Given the description of an element on the screen output the (x, y) to click on. 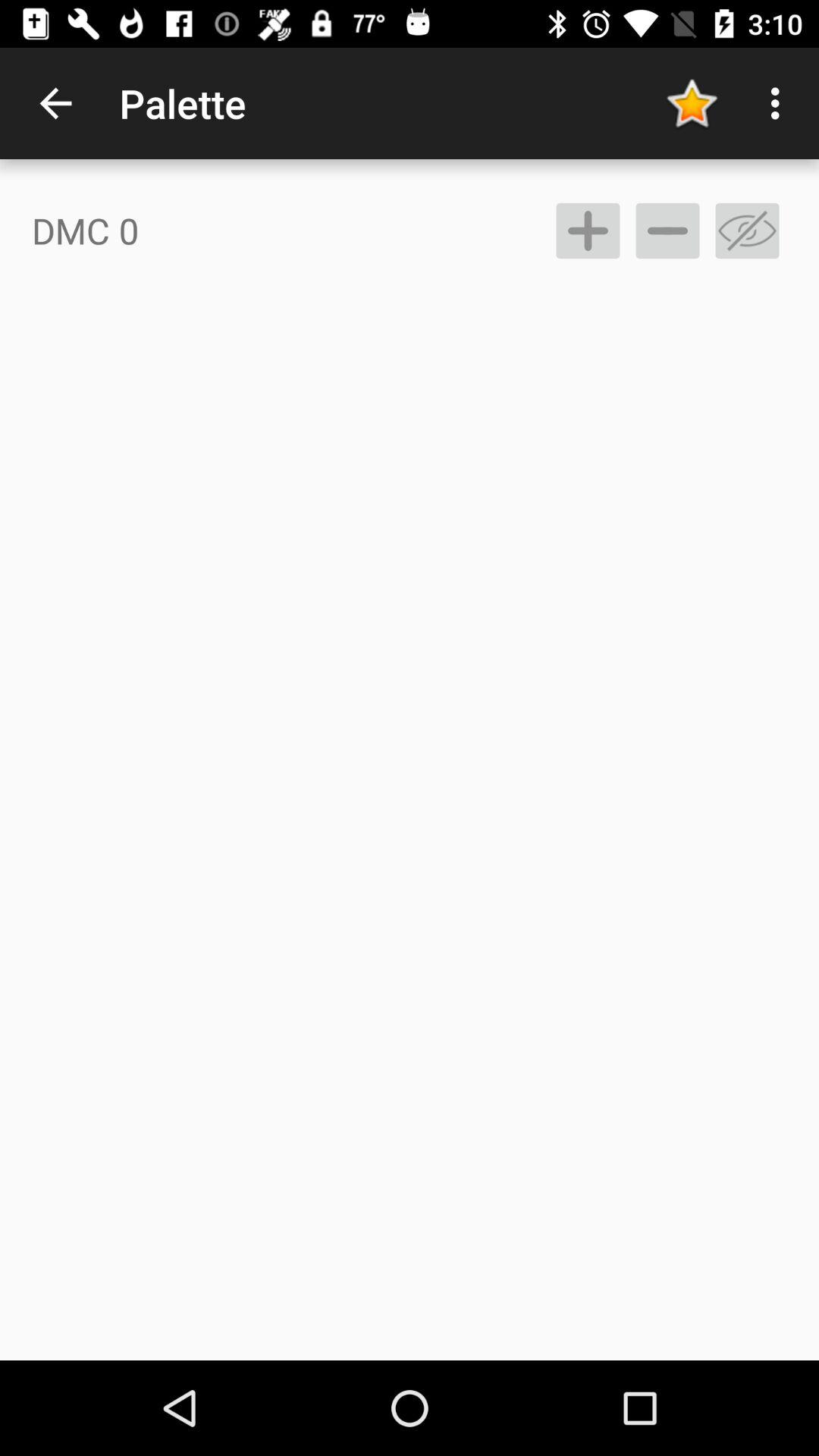
select item to the right of dmc 0 icon (587, 230)
